Given the description of an element on the screen output the (x, y) to click on. 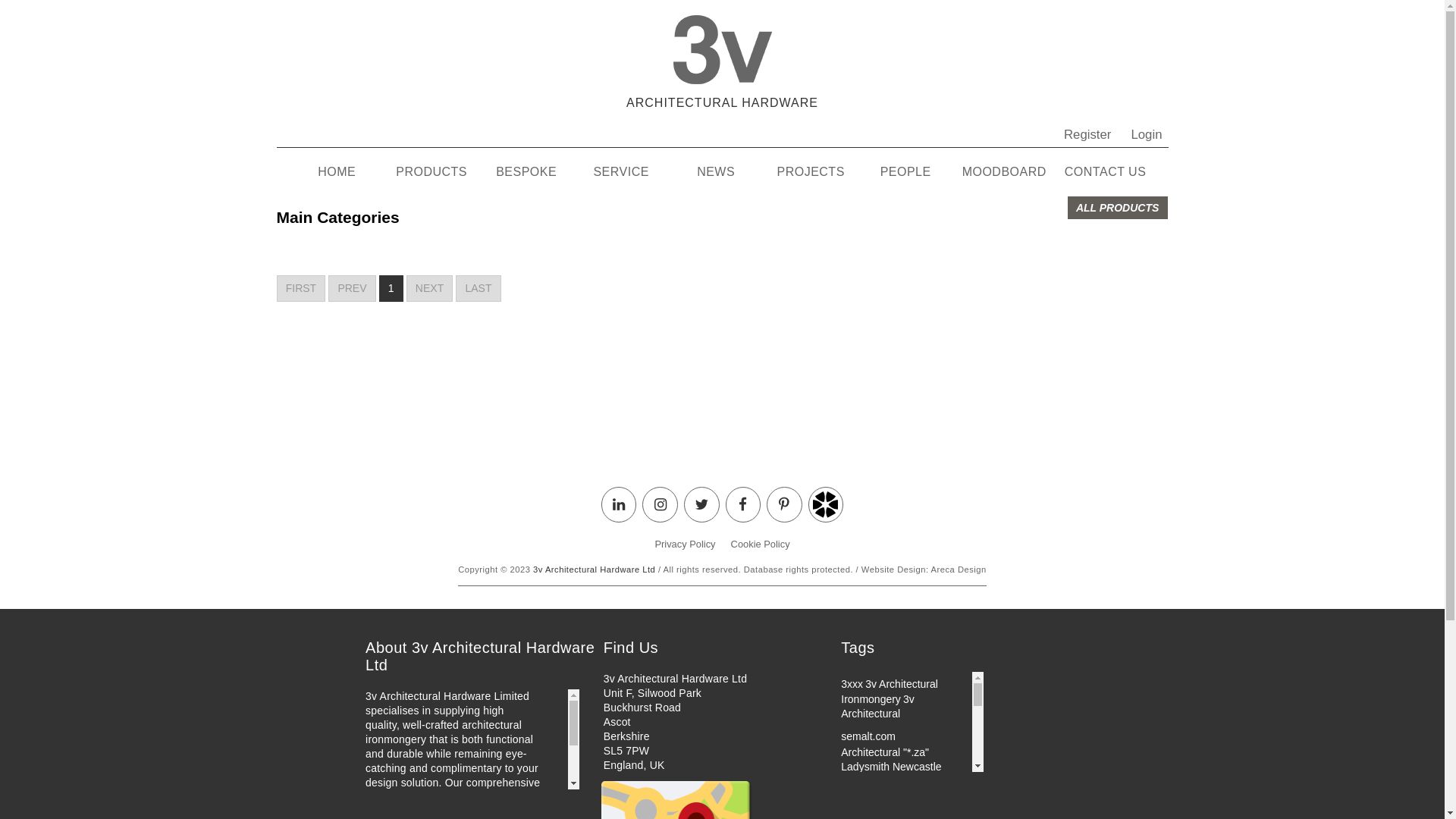
1 Element type: text (391, 288)
BESPOKE Element type: text (526, 171)
PROJECTS Element type: text (810, 171)
NEXT Element type: text (429, 288)
PRODUCTS Element type: text (431, 171)
Register Element type: text (1083, 137)
PEOPLE Element type: text (905, 171)
Areca Design Element type: text (958, 569)
Architectural "*.za" Ladysmith Newcastle Mail Element type: text (890, 766)
ARCHITECTURAL HARDWARE Element type: text (721, 58)
PREV Element type: text (352, 288)
3xxx Element type: text (851, 683)
MOODBOARD Element type: text (1004, 171)
HOME Element type: text (336, 171)
ALL PRODUCTS Element type: text (1117, 207)
LAST Element type: text (477, 288)
3v Architectural Ironmongery Element type: text (889, 691)
SERVICE Element type: text (621, 171)
Login Element type: text (1142, 137)
semalt.com Element type: text (867, 736)
hardware Mail Element type: text (873, 812)
CONTACT US Element type: text (1105, 171)
3v Architectural Hardware Limited Element type: text (887, 788)
3v Architectural Element type: text (877, 706)
NEWS Element type: text (715, 171)
Cookie Policy Element type: text (760, 543)
Privacy Policy Element type: text (684, 543)
FIRST Element type: text (300, 288)
